Given the description of an element on the screen output the (x, y) to click on. 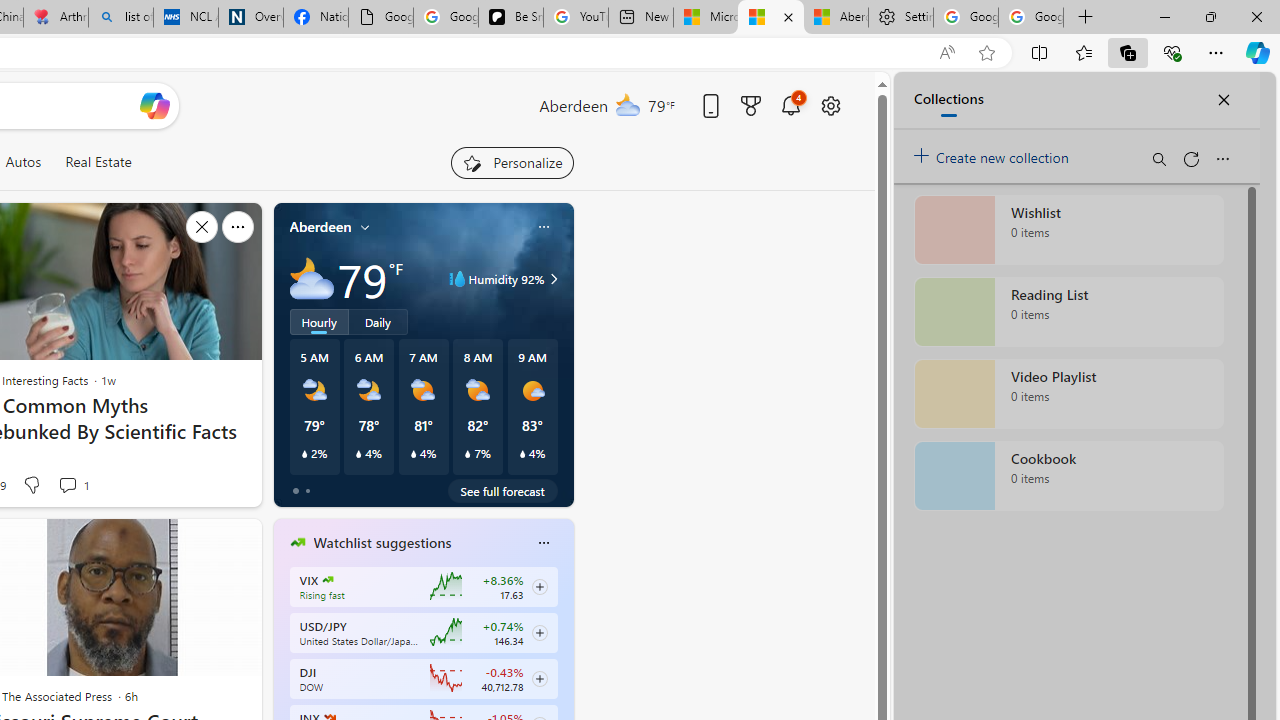
See full forecast (502, 490)
Be Smart | creating Science videos | Patreon (510, 17)
You're following Newsweek (197, 490)
Mostly cloudy (311, 278)
Class: weather-current-precipitation-glyph (522, 453)
previous (283, 670)
